Given the description of an element on the screen output the (x, y) to click on. 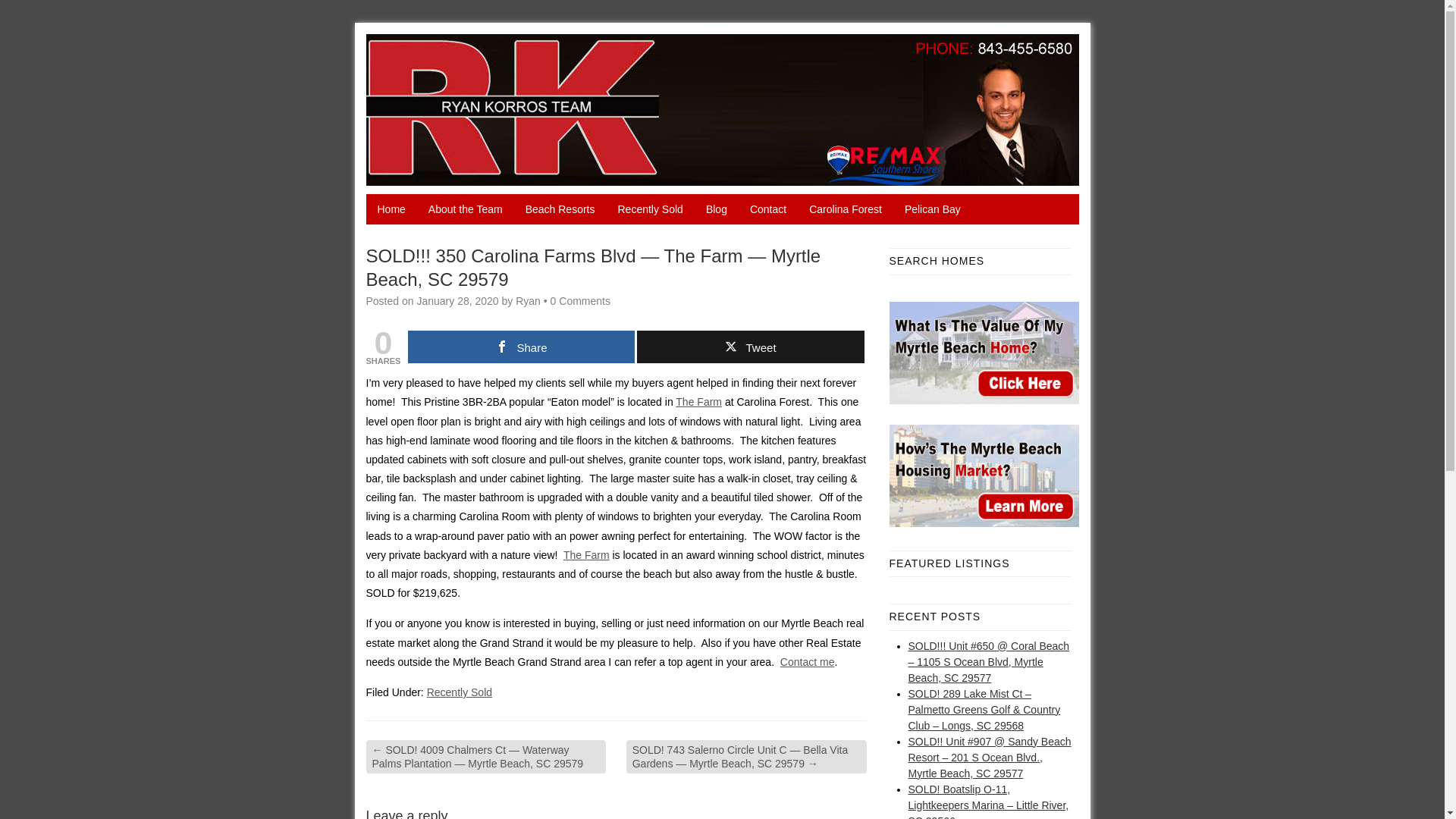
The Farm (586, 554)
0 Comments (580, 300)
Pelican Bay (932, 209)
The Farm (698, 401)
About the Team (464, 209)
Share (520, 346)
Contact me (807, 662)
Recently Sold (650, 209)
Tweet (750, 346)
Contact (767, 209)
